Given the description of an element on the screen output the (x, y) to click on. 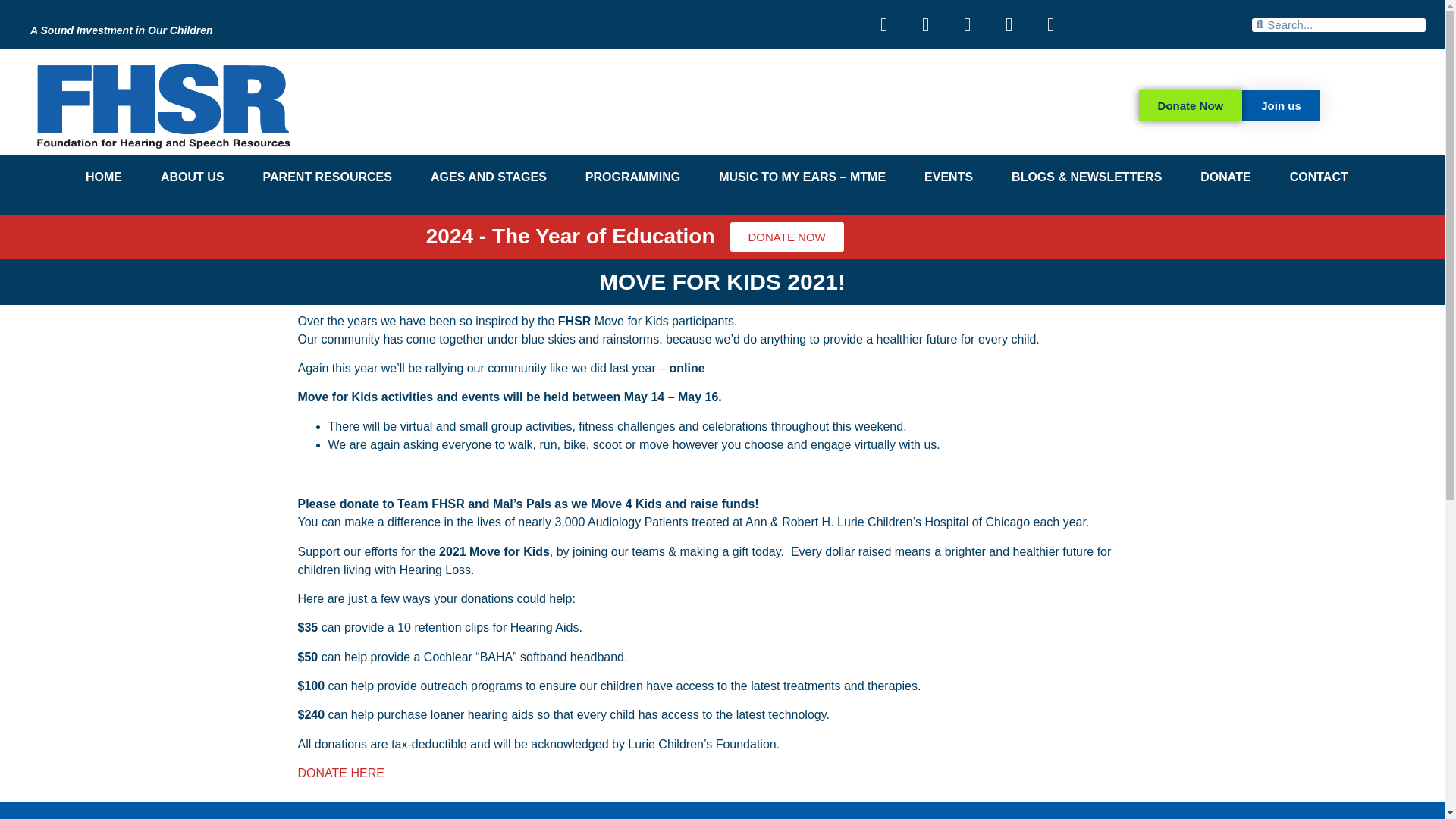
ABOUT US (192, 177)
AGES AND STAGES (488, 177)
Search (1343, 24)
PARENT RESOURCES (327, 177)
Donate Now (1190, 105)
HOME (103, 177)
Join us (1280, 105)
